Given the description of an element on the screen output the (x, y) to click on. 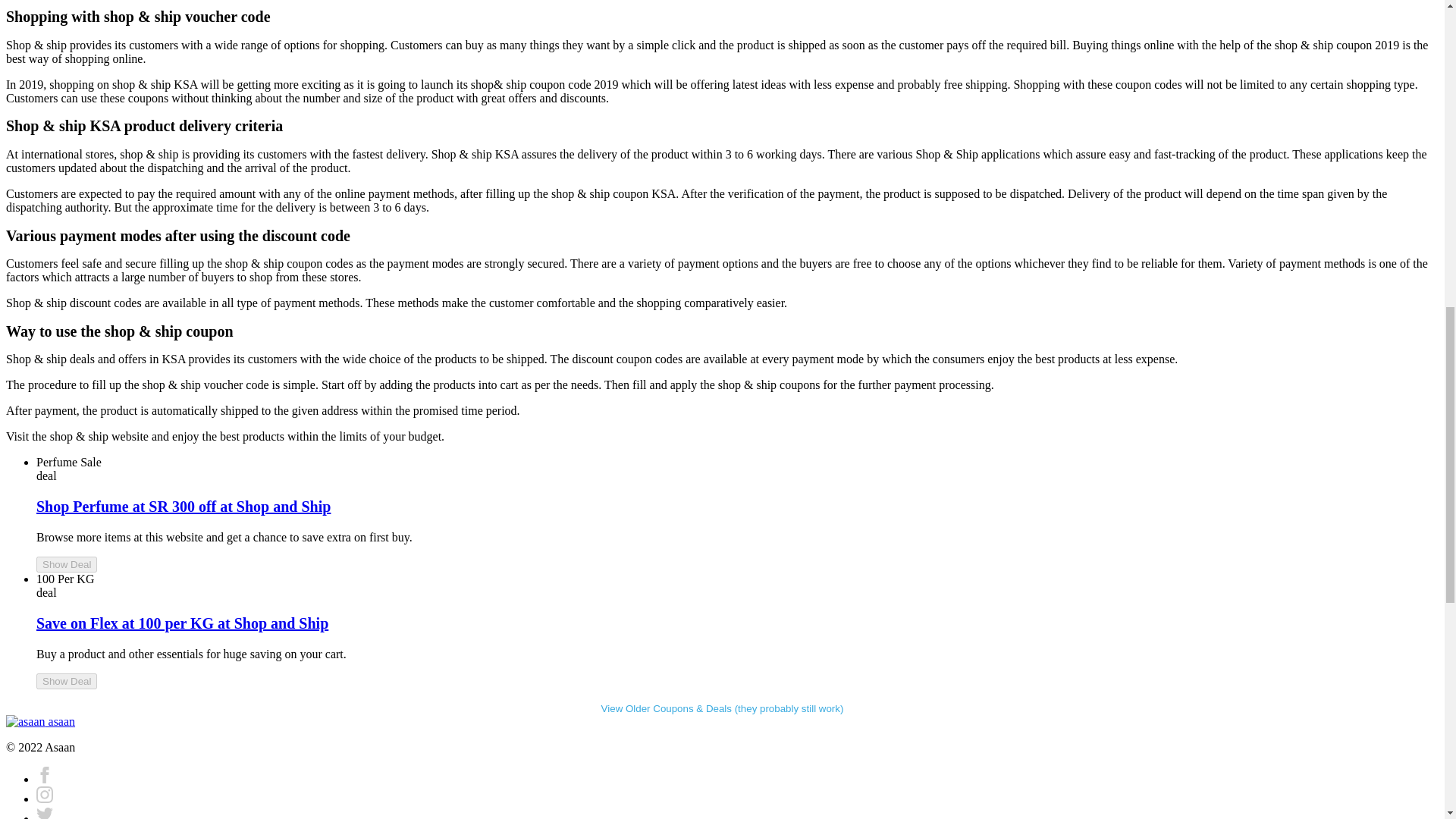
Twitter (44, 815)
Facebook (44, 779)
Instagram (44, 798)
